Given the description of an element on the screen output the (x, y) to click on. 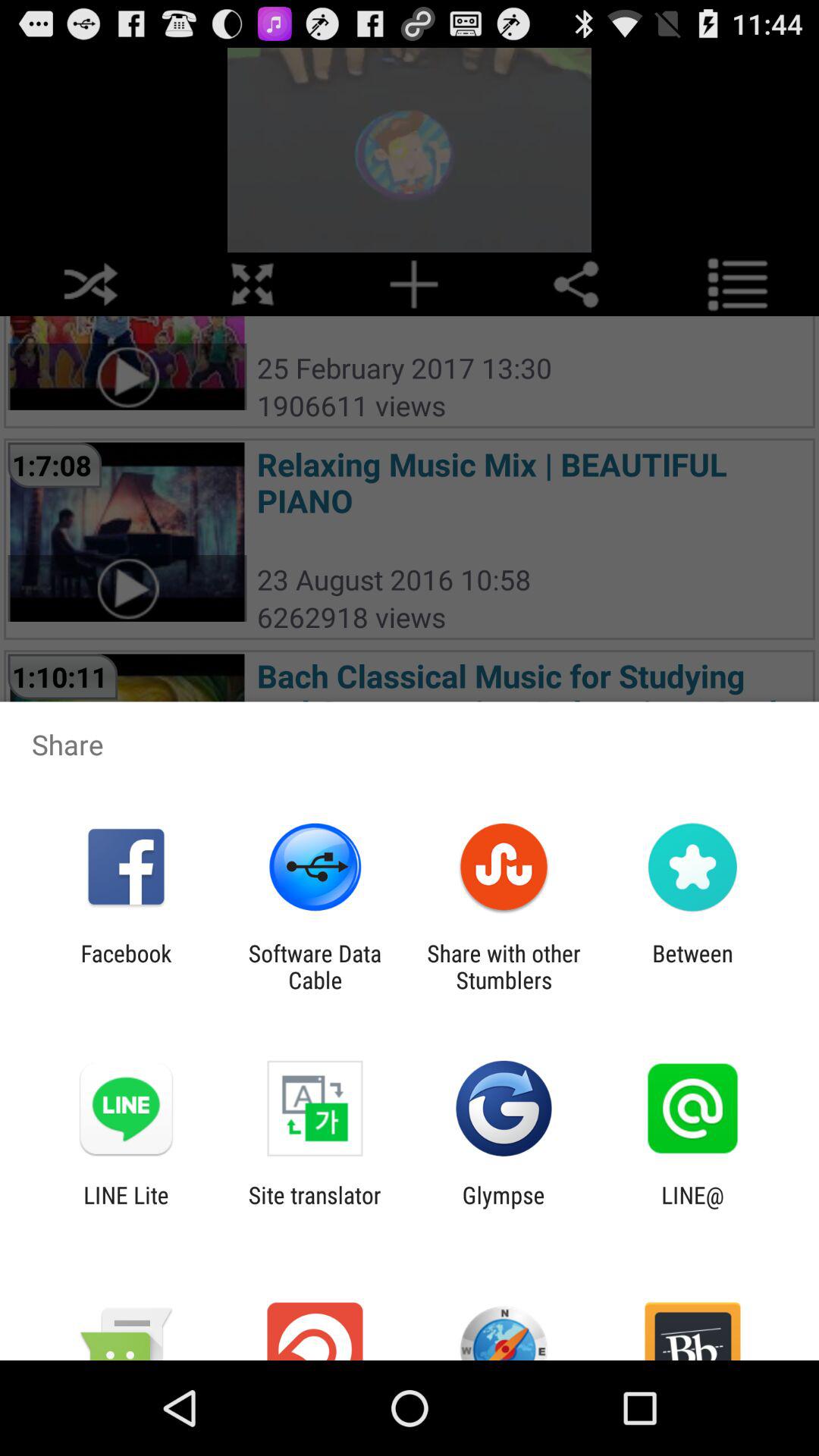
scroll until the facebook (125, 966)
